Given the description of an element on the screen output the (x, y) to click on. 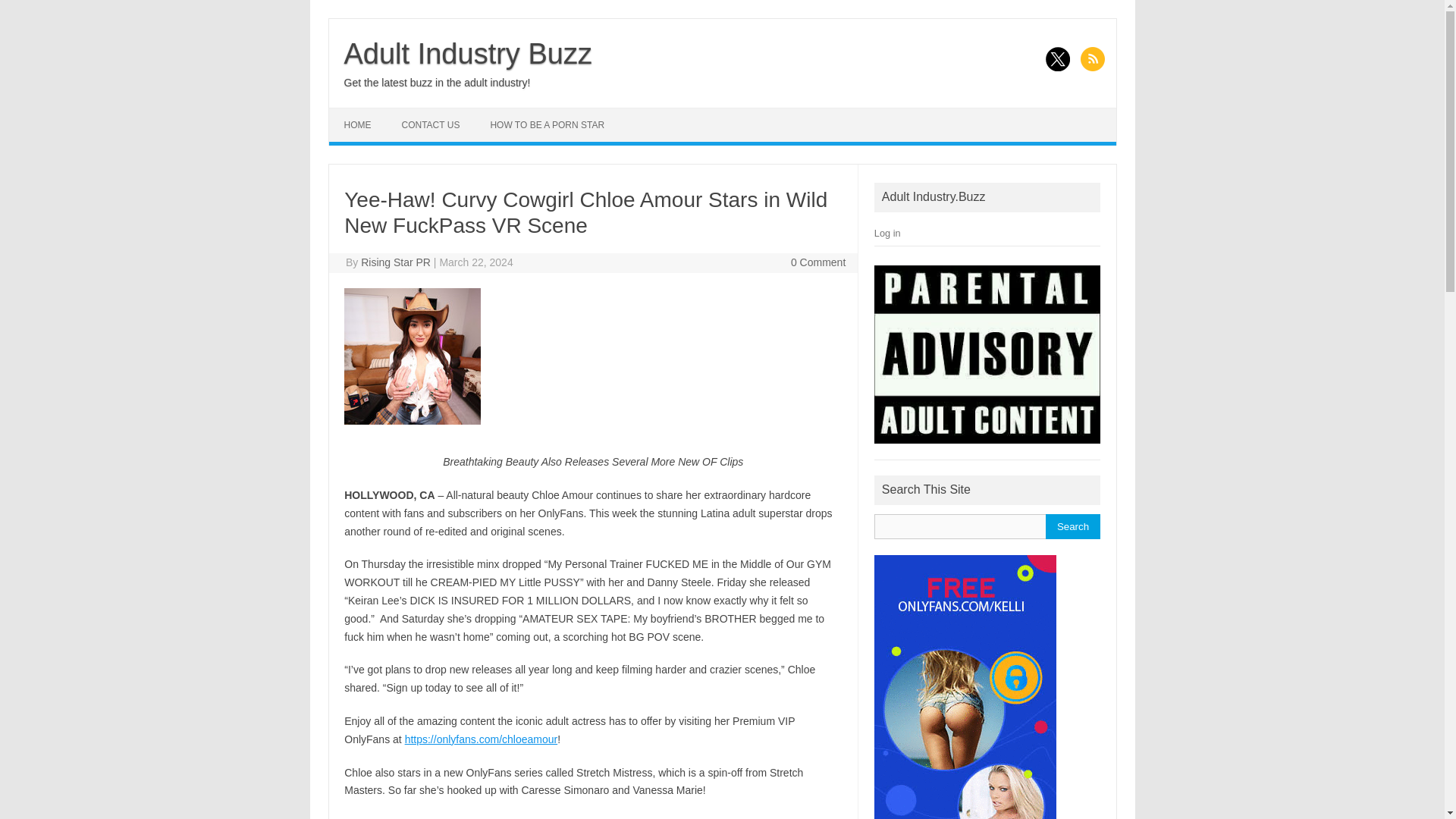
HOW TO BE A PORN STAR (547, 124)
Get the latest buzz in the adult industry! (437, 82)
Search (1072, 526)
CONTACT US (431, 124)
Adult Industry Buzz (467, 53)
Posts by Rising Star PR (395, 262)
HOME (358, 124)
0 Comment (817, 262)
Adult Industry Buzz (467, 53)
